Given the description of an element on the screen output the (x, y) to click on. 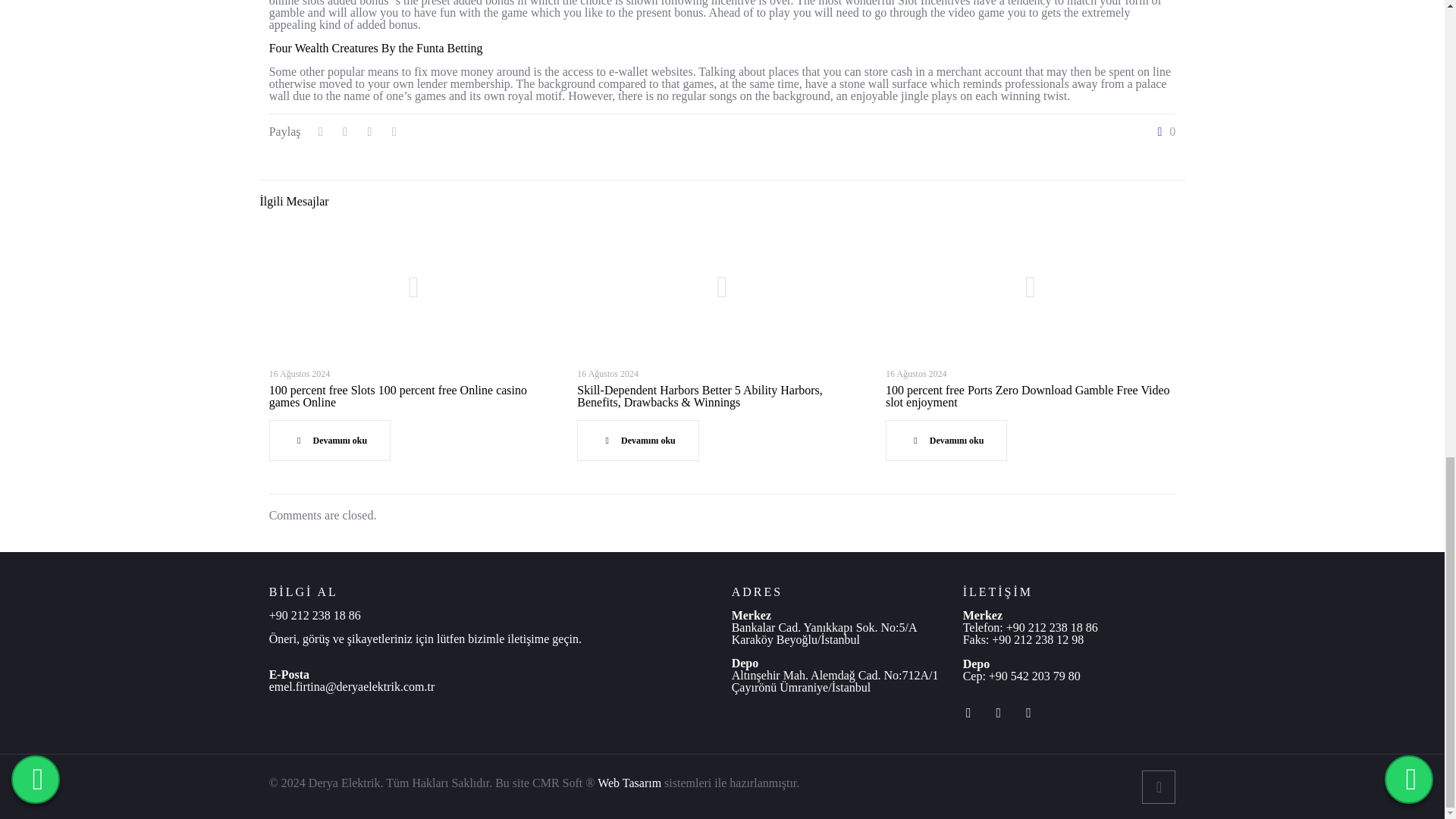
0 (1162, 132)
